Given the description of an element on the screen output the (x, y) to click on. 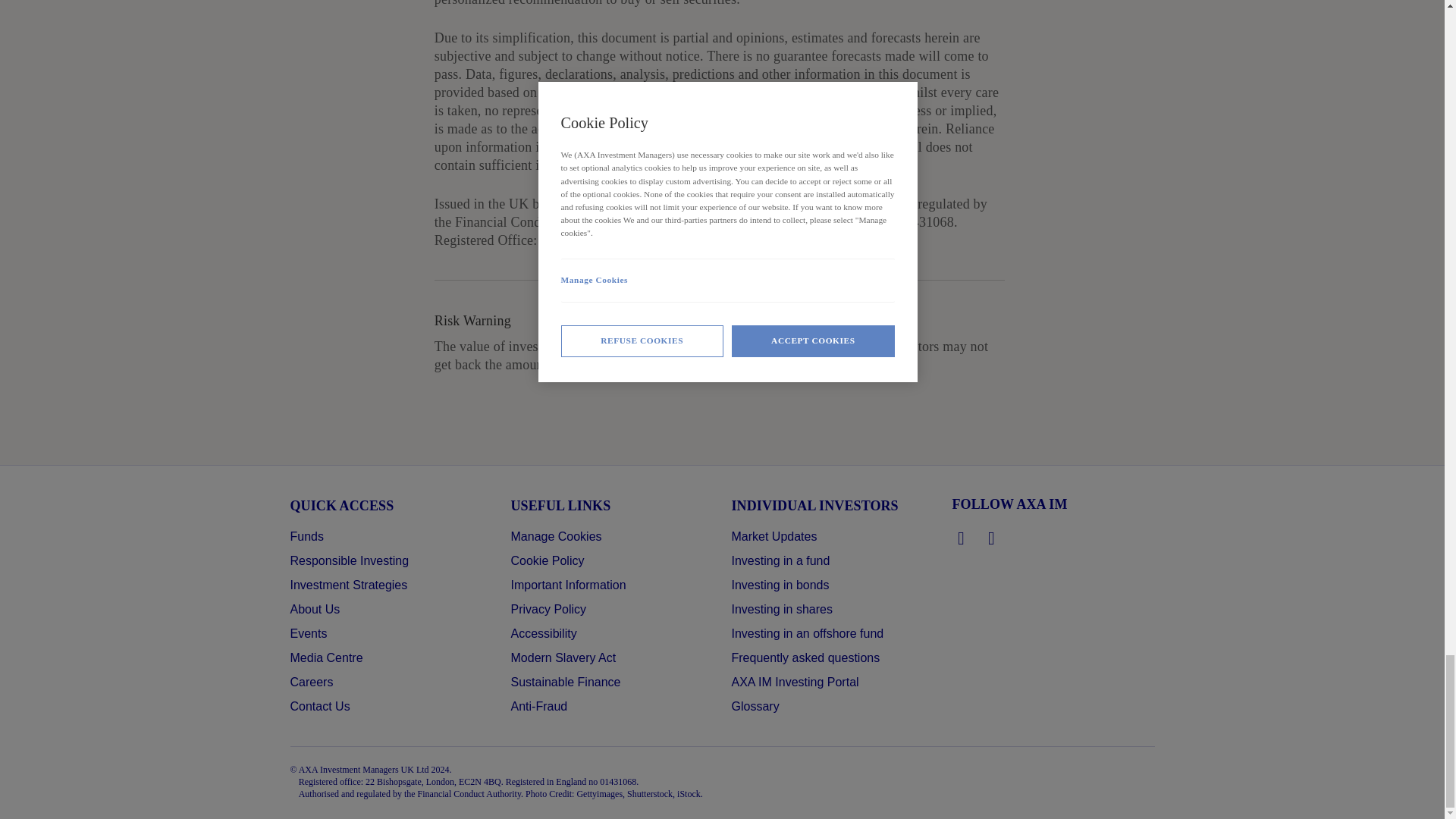
Follow us on LinkedIn (961, 538)
Follow us on Youtube (991, 538)
